Given the description of an element on the screen output the (x, y) to click on. 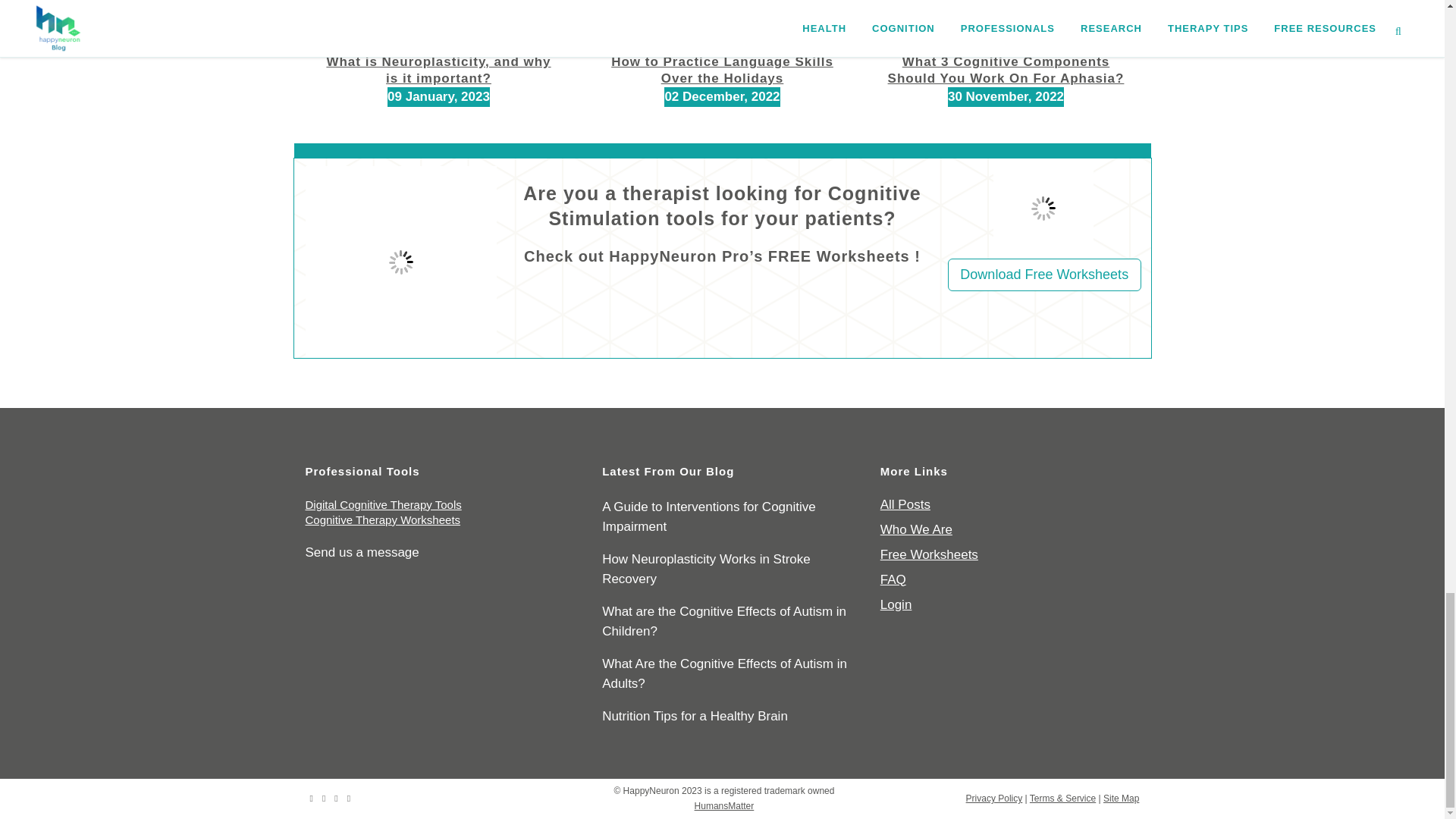
What is Neuroplasticity, and why is it important? (438, 69)
What 3 Cognitive Components Should You Work On For Aphasia? (1006, 69)
HappyNeuron Pro Logo (400, 261)
Free Worksheet Sample (1042, 208)
How to Practice Language Skills Over the Holidays (721, 69)
